Given the description of an element on the screen output the (x, y) to click on. 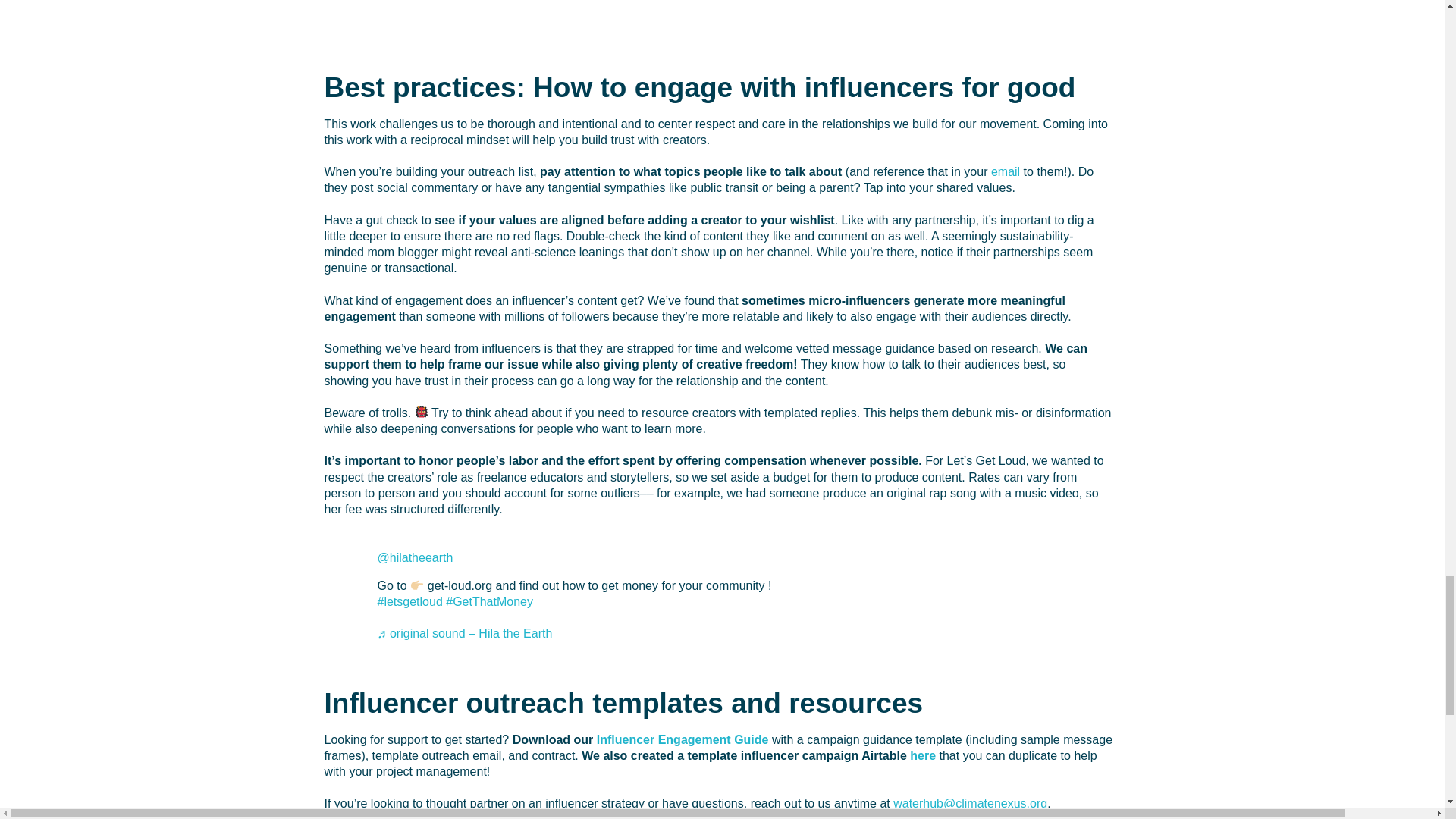
email (1005, 171)
letsgetloud (409, 601)
Influencer Engagement Guide (682, 739)
here (923, 755)
getthatmoney (488, 601)
What's going on with the Inflation Reduction Act? (718, 14)
